Given the description of an element on the screen output the (x, y) to click on. 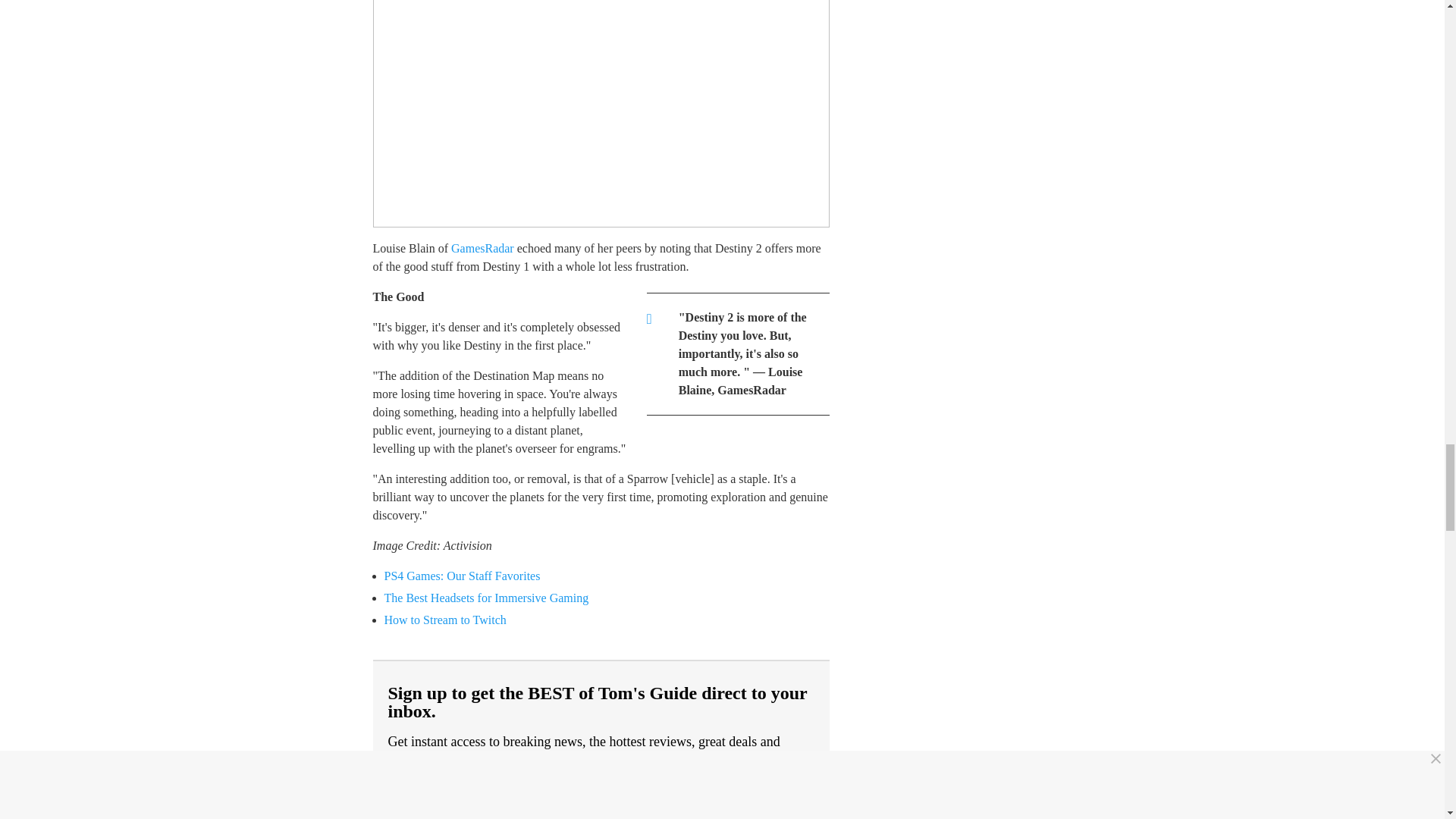
Sign me up (739, 797)
